Given the description of an element on the screen output the (x, y) to click on. 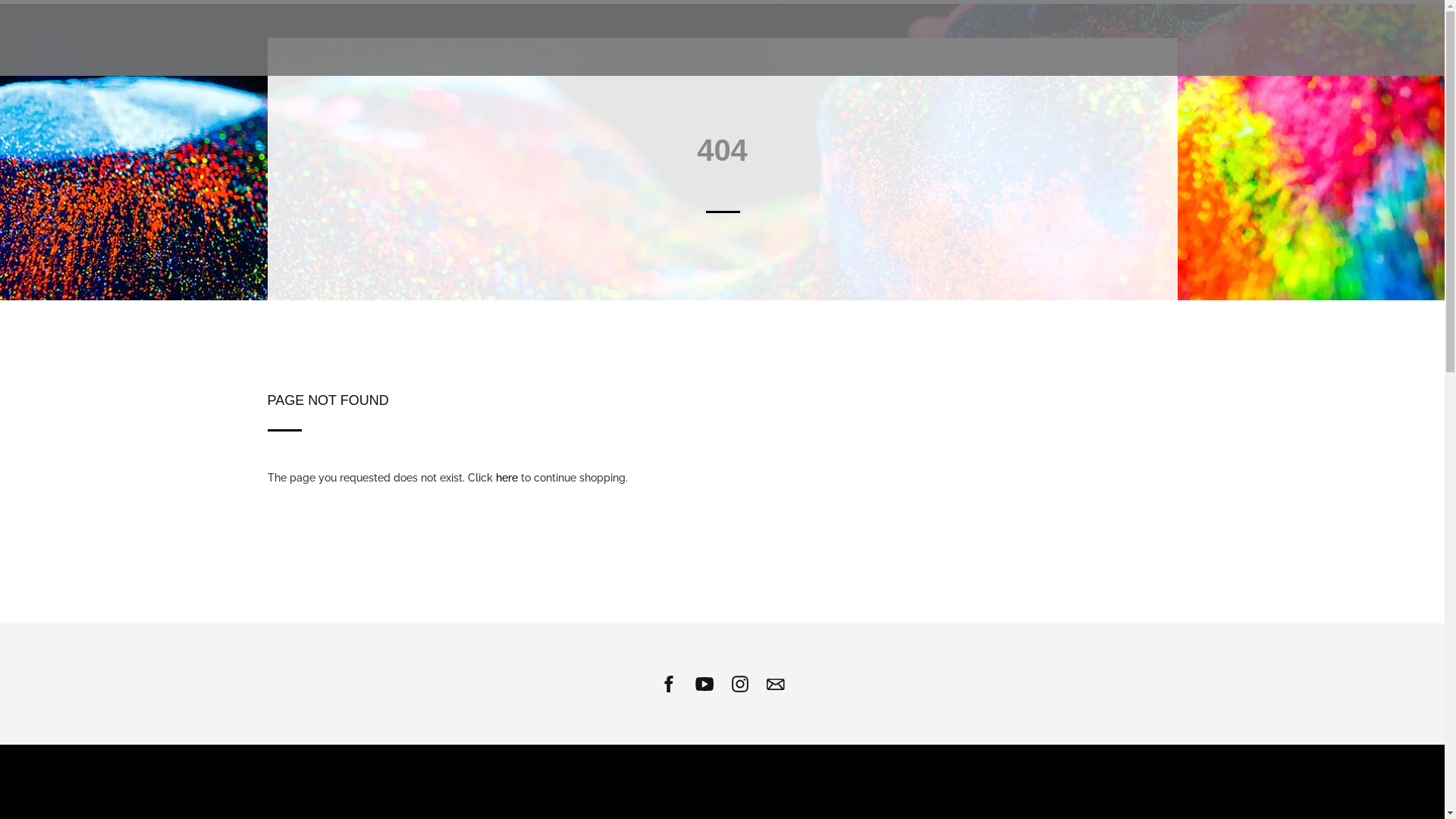
here Element type: text (506, 477)
